Given the description of an element on the screen output the (x, y) to click on. 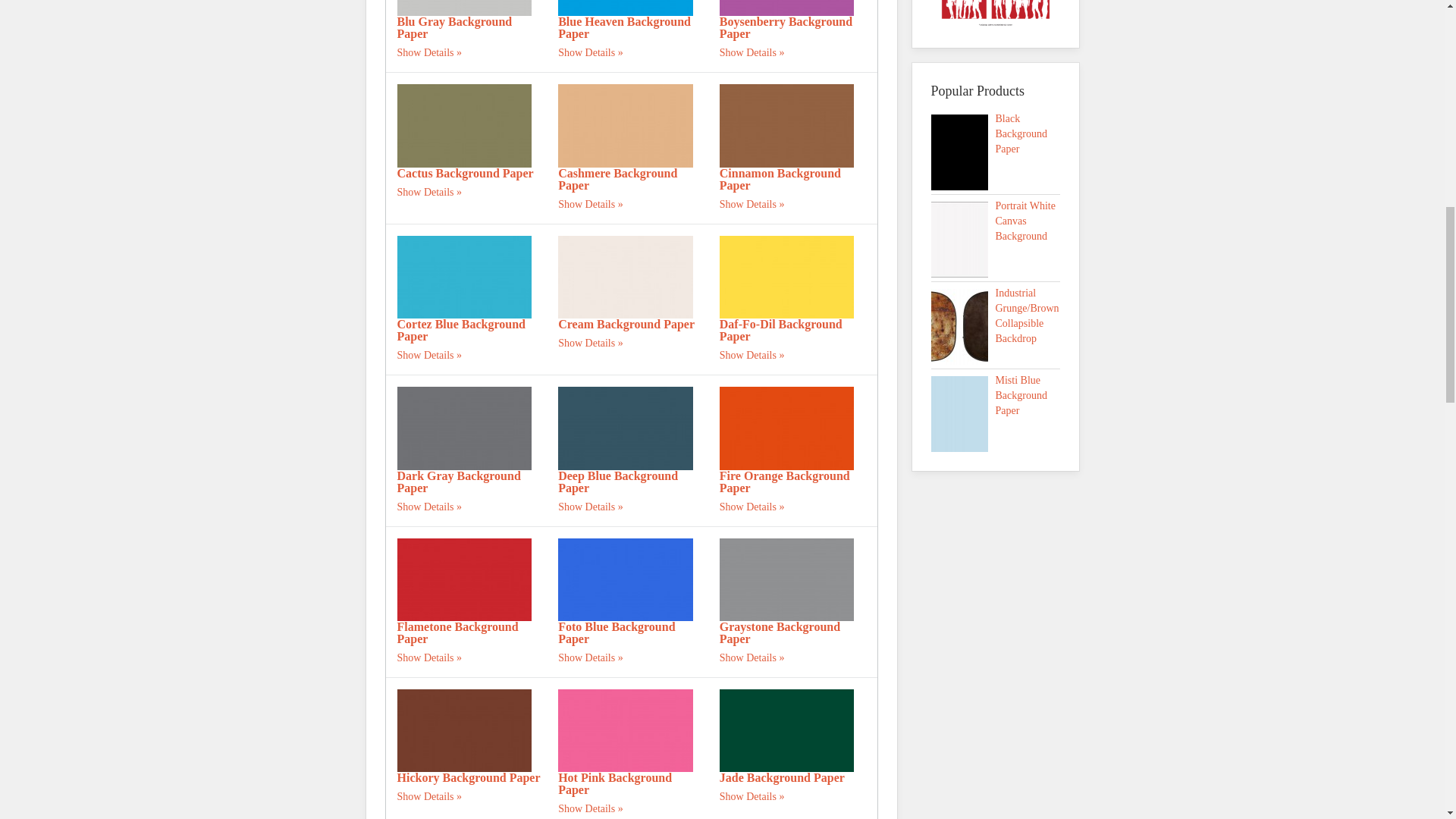
Blue Heaven Background Paper  (623, 27)
Blue Heaven Background Paper  (625, 7)
Blu Gray Background Paper (454, 27)
Boysenberry Background Paper (785, 27)
Blu Gray Background Paper (454, 27)
Blu Gray Background Paper (464, 7)
Show Details (430, 52)
Boysenberry Background Paper (786, 7)
